Given the description of an element on the screen output the (x, y) to click on. 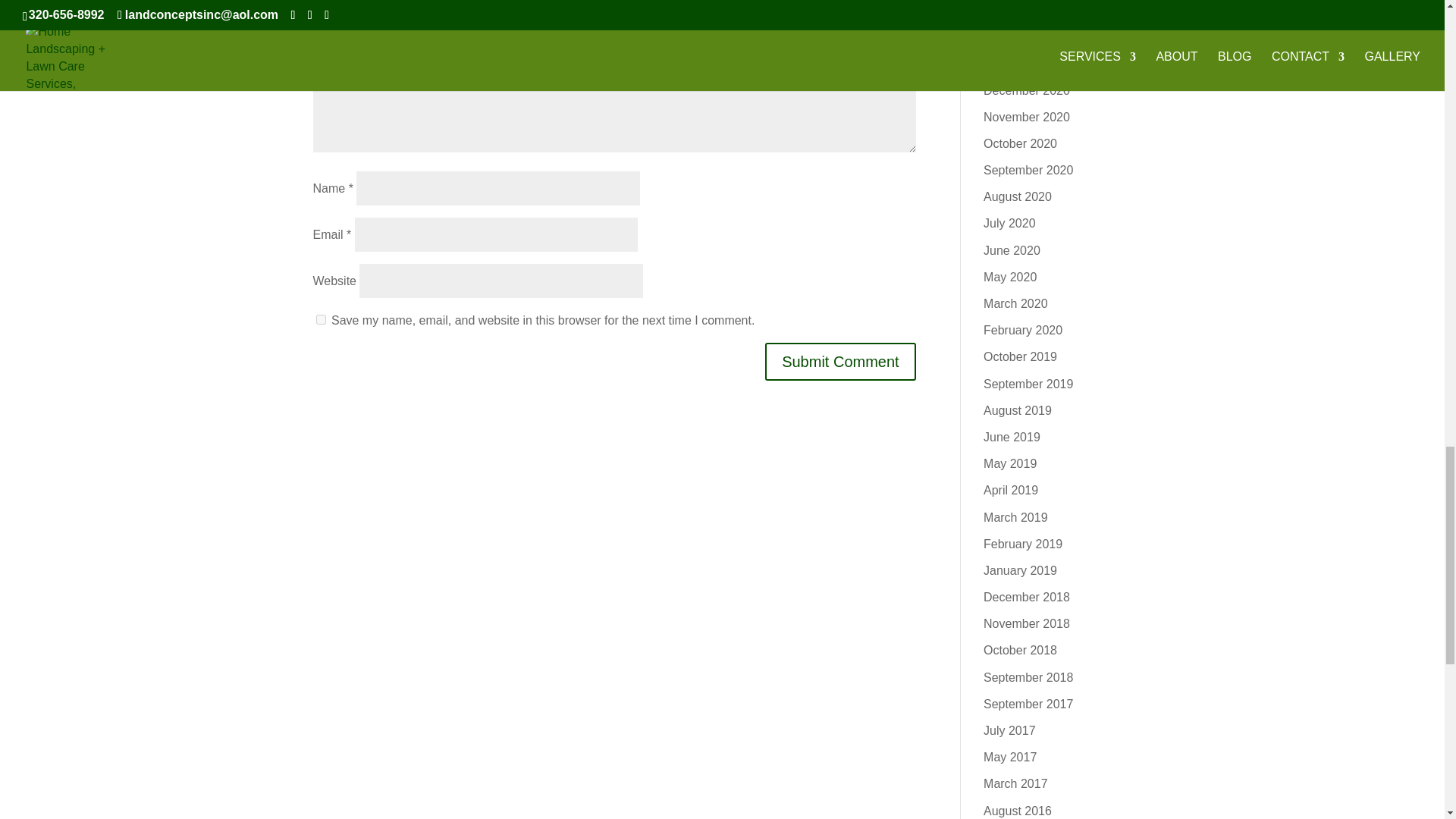
yes (319, 319)
Submit Comment (840, 361)
Submit Comment (840, 361)
